Given the description of an element on the screen output the (x, y) to click on. 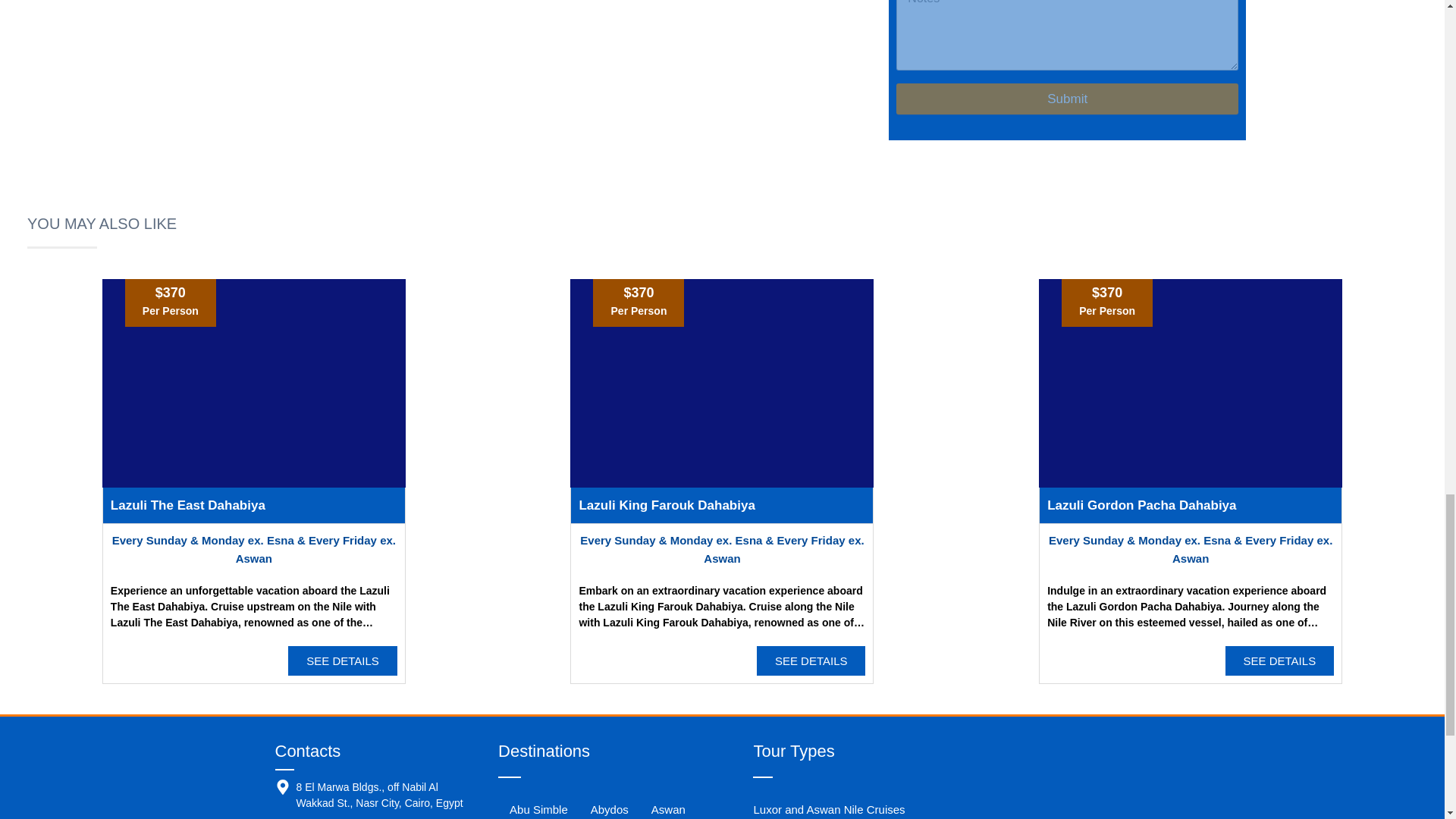
Submit (1067, 98)
Lazuli The East Dahabiya (187, 504)
SEE DETAILS (342, 660)
